Given the description of an element on the screen output the (x, y) to click on. 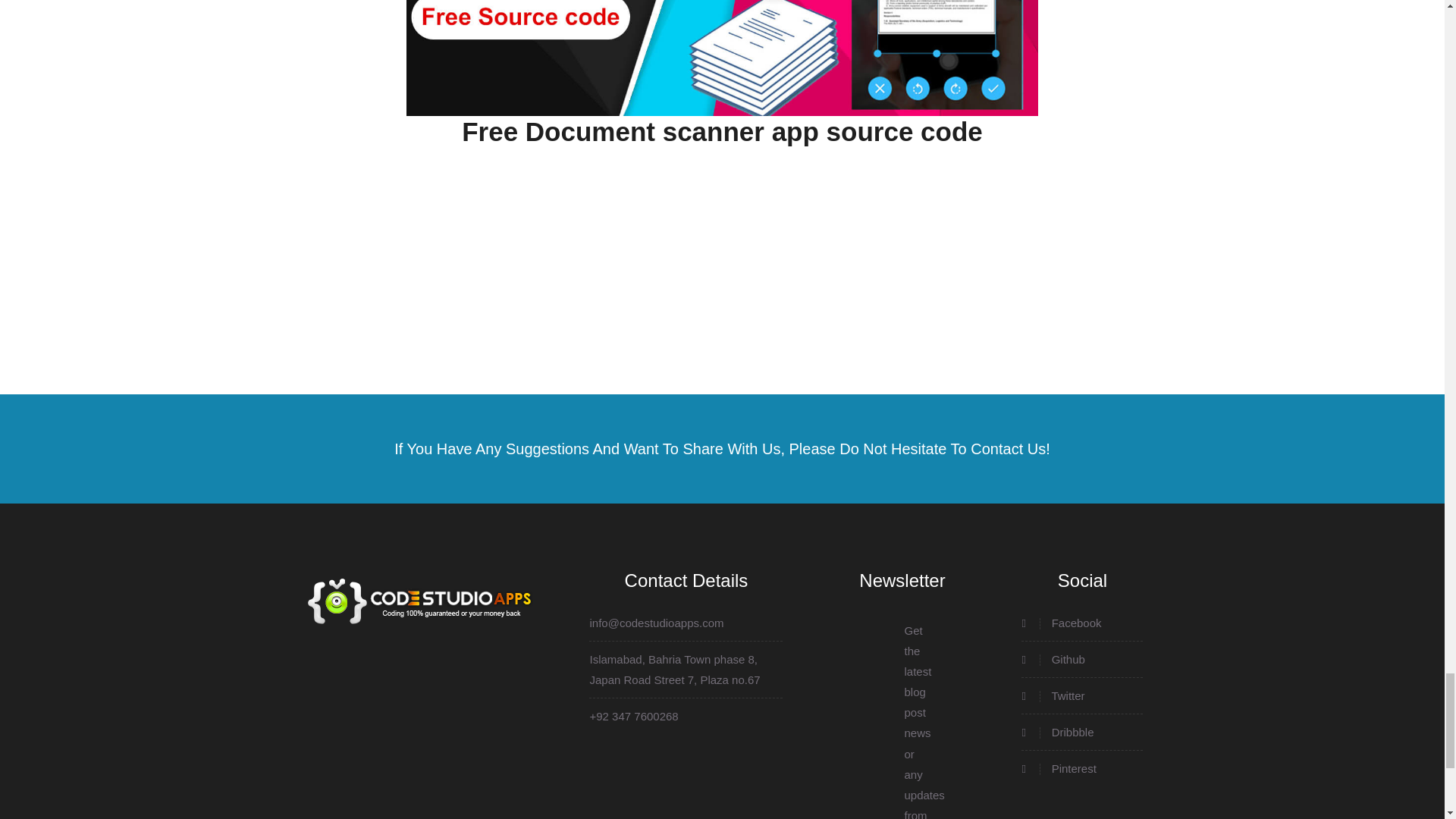
Github (1082, 659)
Dribbble (1082, 731)
Twitter (1082, 695)
Facebook (1082, 622)
Pinterest (1082, 768)
Free Document scanner app source code (721, 132)
